Given the description of an element on the screen output the (x, y) to click on. 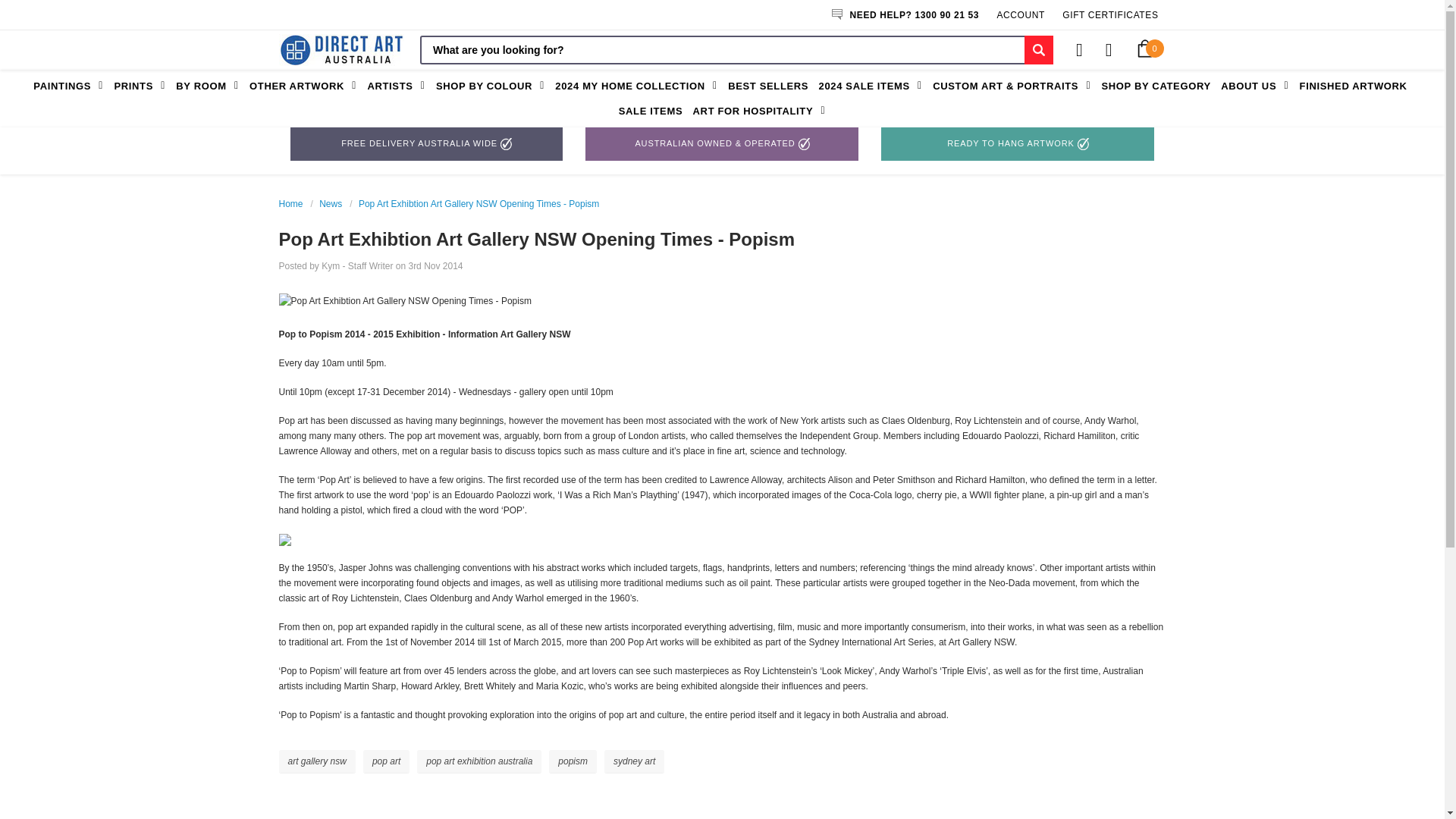
ACCOUNT (1020, 14)
' (341, 50)
FREE DELIVERY AUSTRALIA WIDE (425, 143)
0 (1144, 50)
PAINTINGS (70, 85)
1300 90 21 53 (946, 14)
READY TO HANG ARTORK (1017, 143)
Pop Art  Exhibtion Art Gallery NSW Opening Times - Popism (405, 300)
GIFT CERTIFICATES (1109, 14)
